Given the description of an element on the screen output the (x, y) to click on. 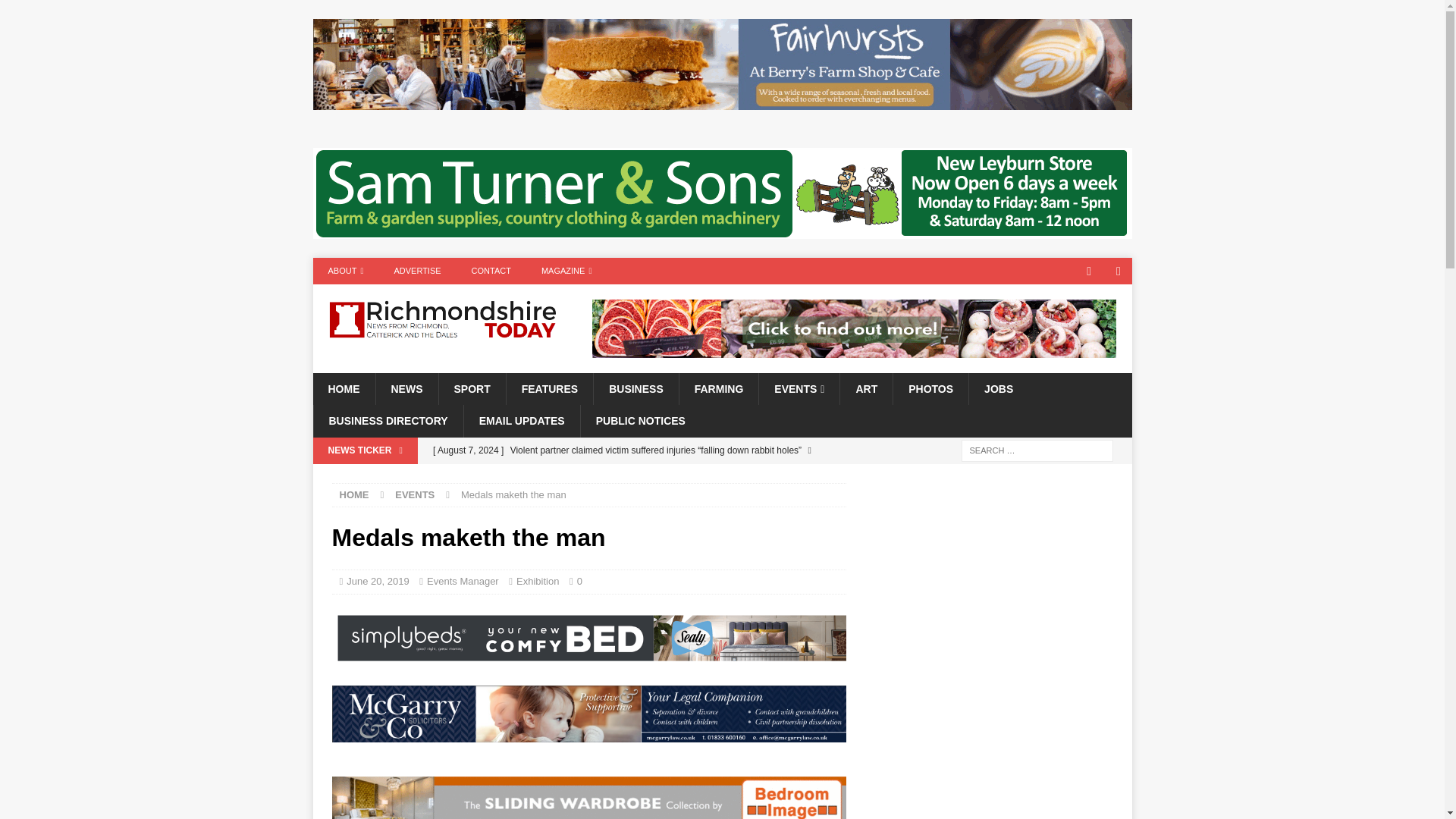
HOME (354, 494)
SPORT (471, 388)
MAGAZINE (566, 270)
BUSINESS (635, 388)
HOME (343, 388)
NEWS (406, 388)
CONTACT (491, 270)
EMAIL UPDATES (521, 420)
Search (56, 11)
ART (866, 388)
BUSINESS DIRECTORY (388, 420)
FEATURES (548, 388)
View all posts in Exhibition (537, 581)
JOBS (997, 388)
ABOUT (345, 270)
